Given the description of an element on the screen output the (x, y) to click on. 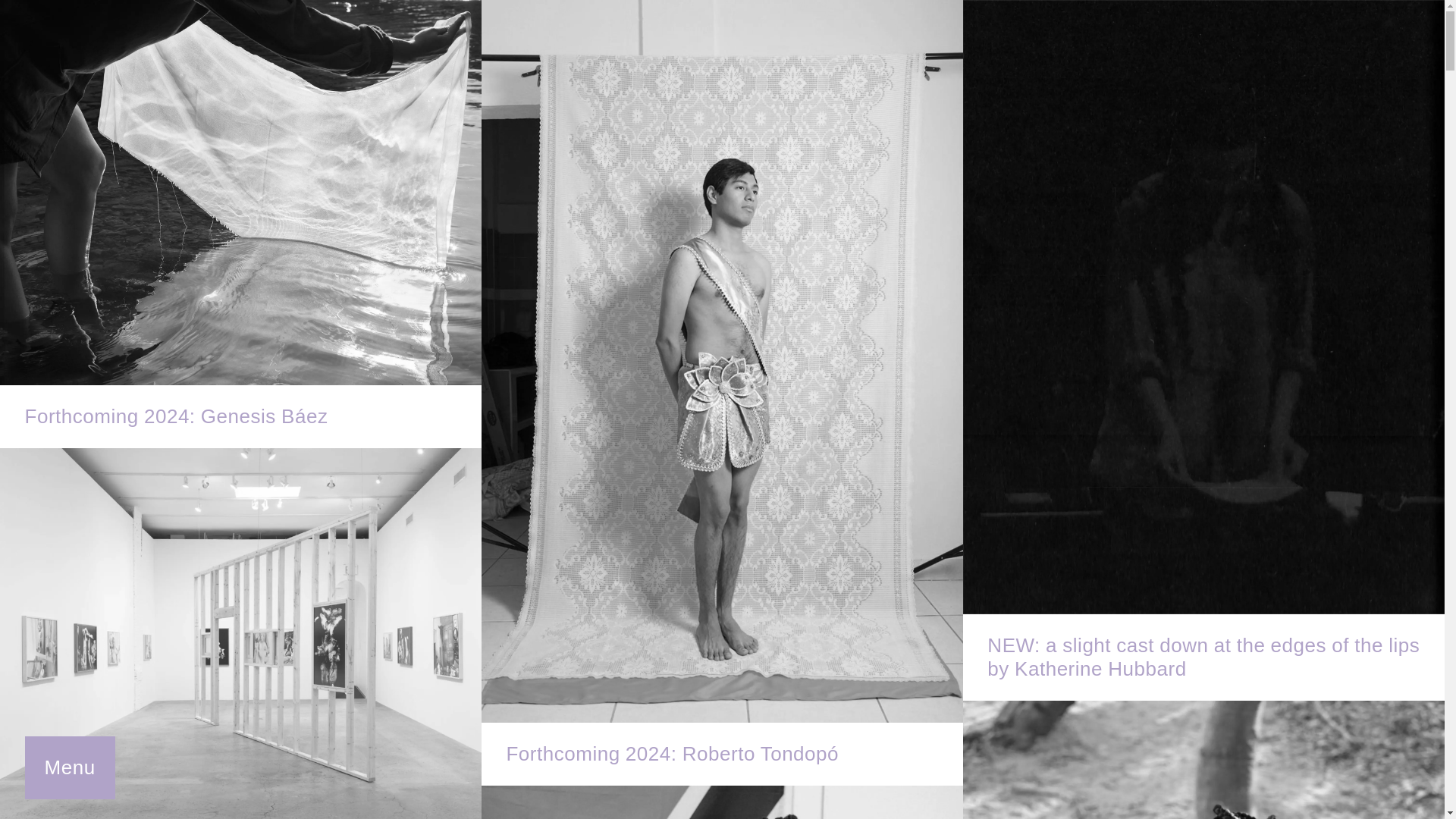
Sasha Phyars Burgess selected as 2023 Guggenheim Fellow (721, 802)
Menu (69, 767)
